Given the description of an element on the screen output the (x, y) to click on. 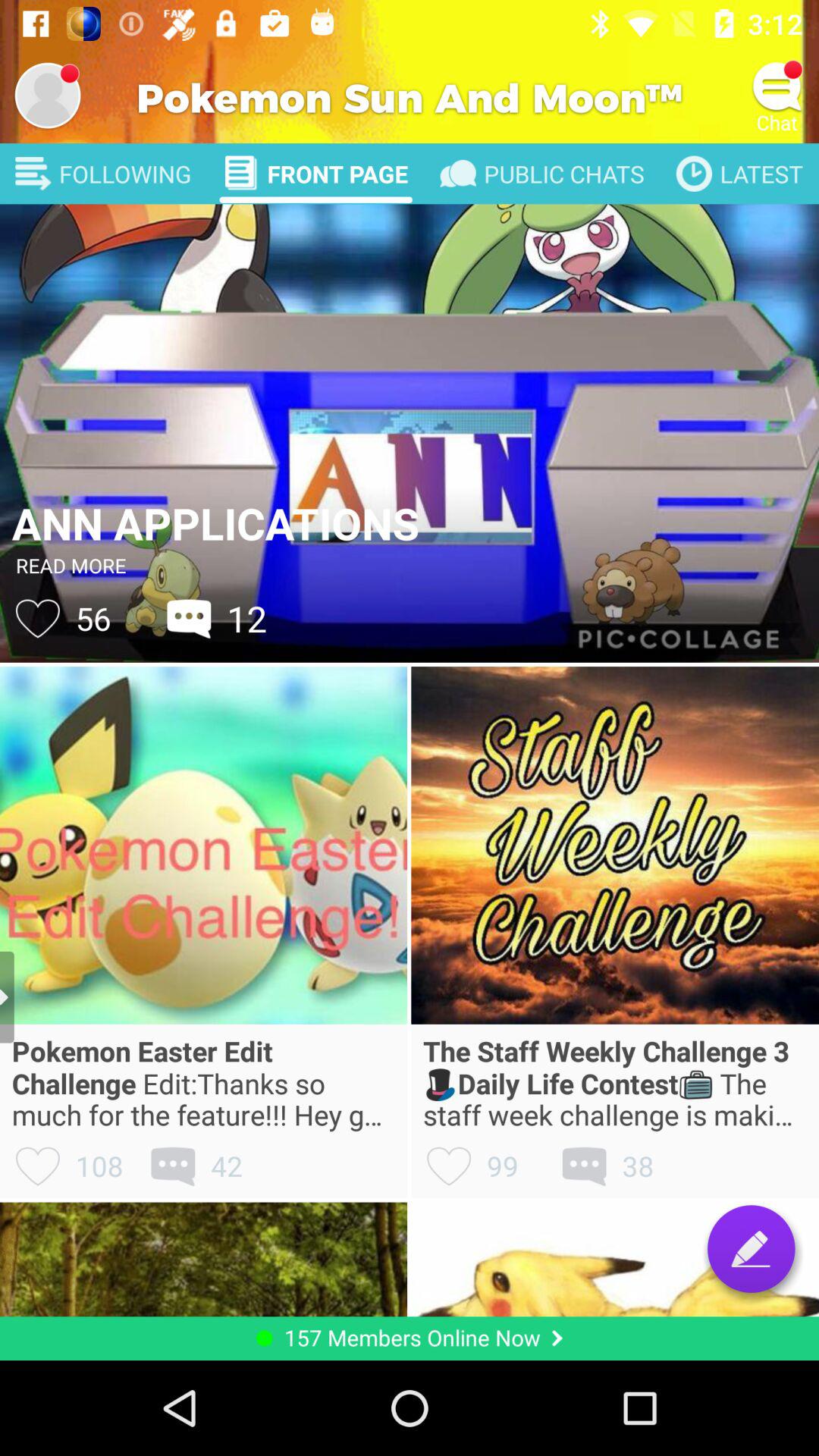
profile image (47, 95)
